Given the description of an element on the screen output the (x, y) to click on. 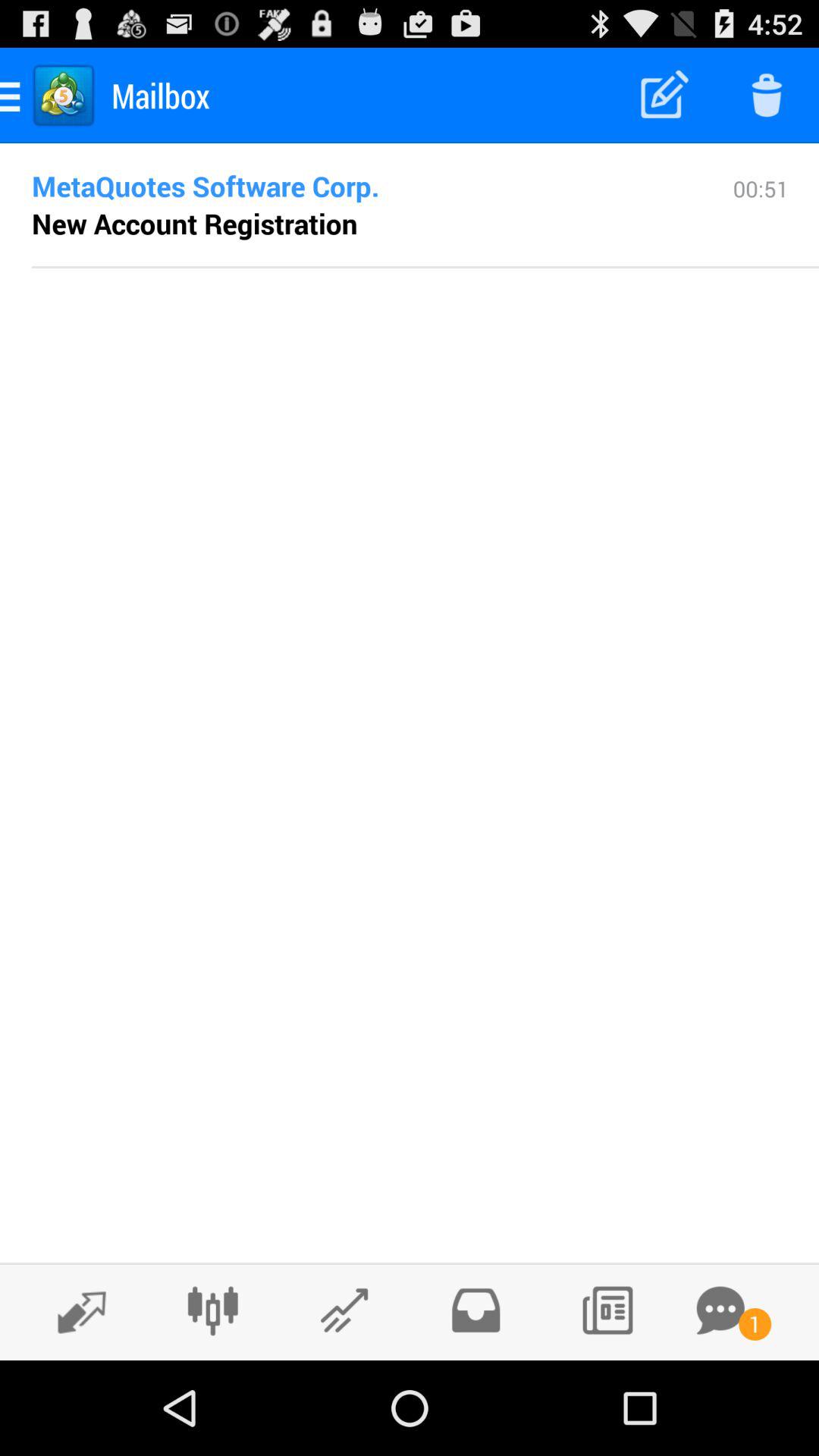
open the item next to 00:51 icon (194, 223)
